Given the description of an element on the screen output the (x, y) to click on. 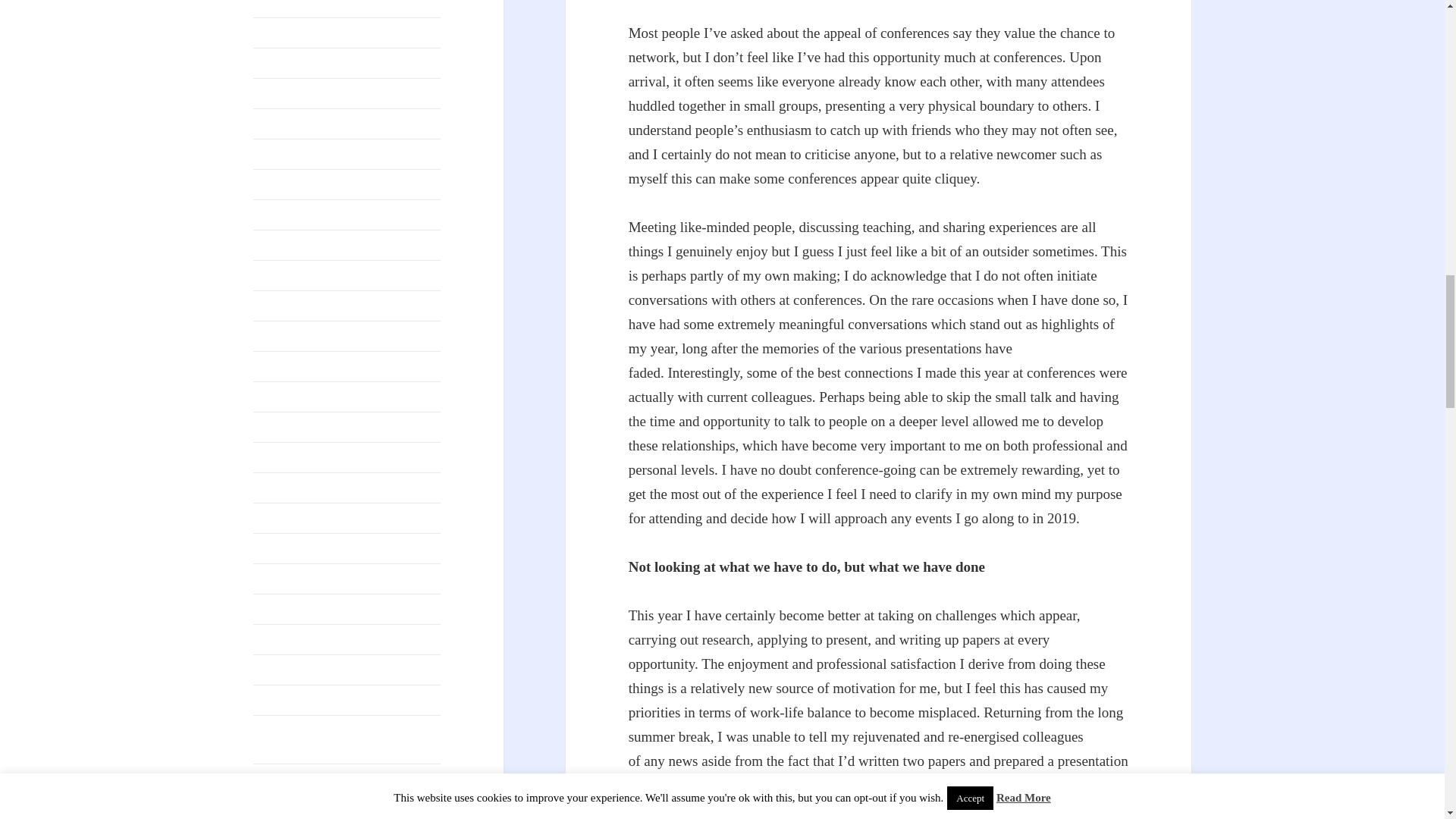
Connections and Influences (320, 4)
Creating Materials (298, 31)
Creative Writing (293, 62)
